Given the description of an element on the screen output the (x, y) to click on. 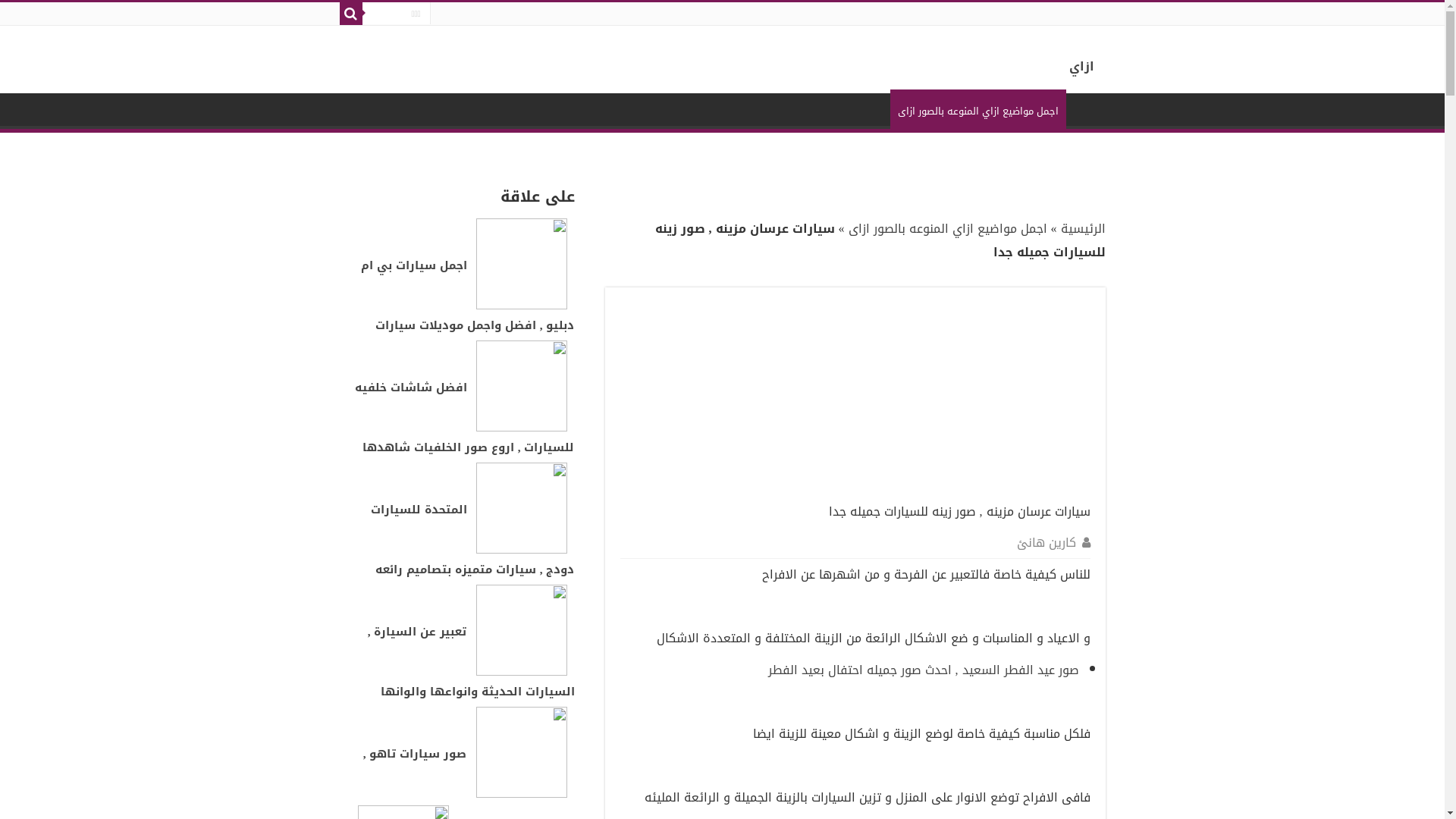
home Element type: text (1085, 109)
